Given the description of an element on the screen output the (x, y) to click on. 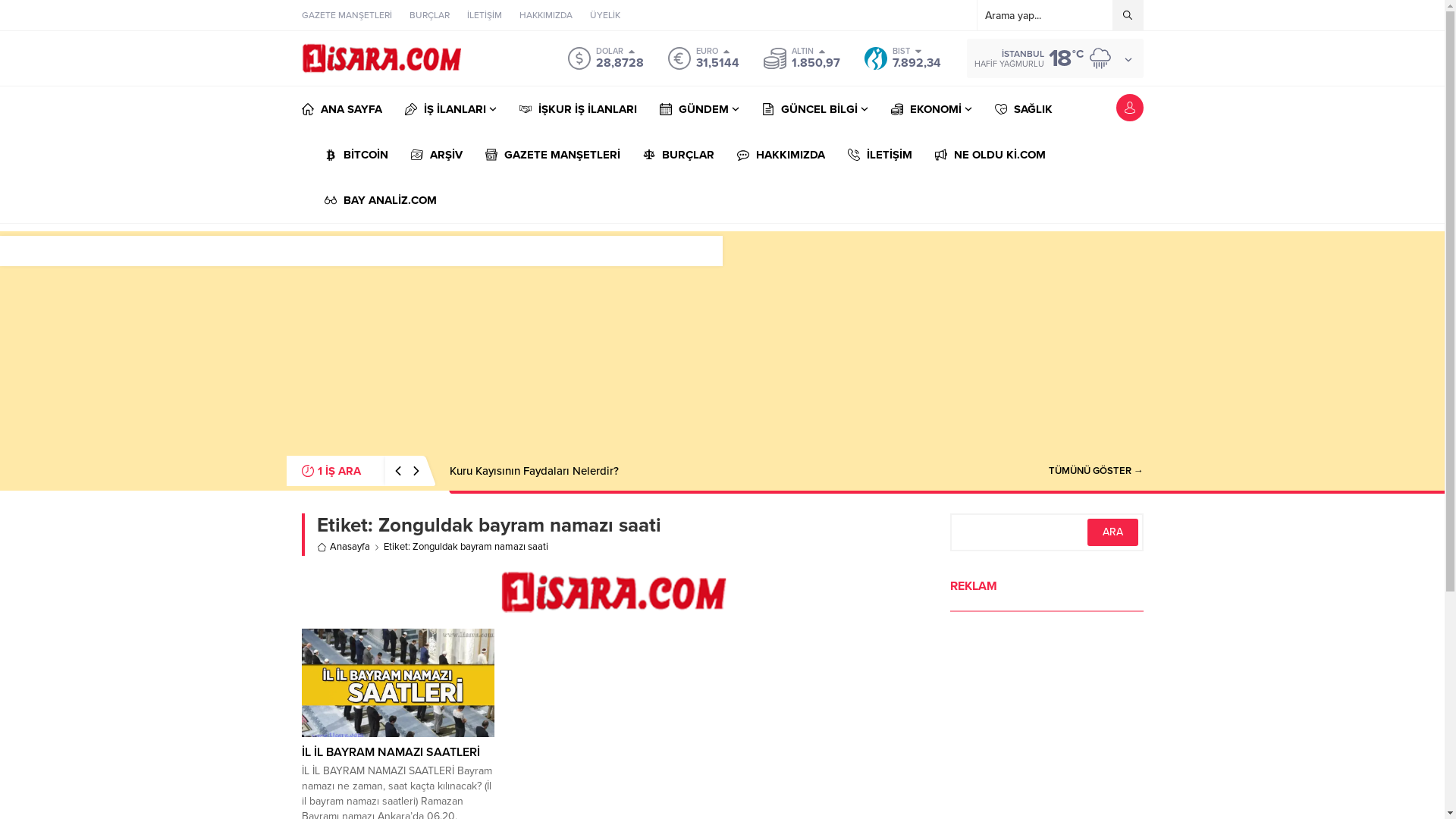
Ara Element type: text (1112, 532)
Biyotin nedir? Nedenleri ve belirtileri Nelerdir? Element type: text (565, 470)
HAKKIMIZDA Element type: text (544, 14)
Advertisement Element type: hover (722, 337)
Anasayfa Element type: text (343, 546)
ANA SAYFA Element type: text (341, 108)
HAKKIMIZDA Element type: text (781, 154)
